Given the description of an element on the screen output the (x, y) to click on. 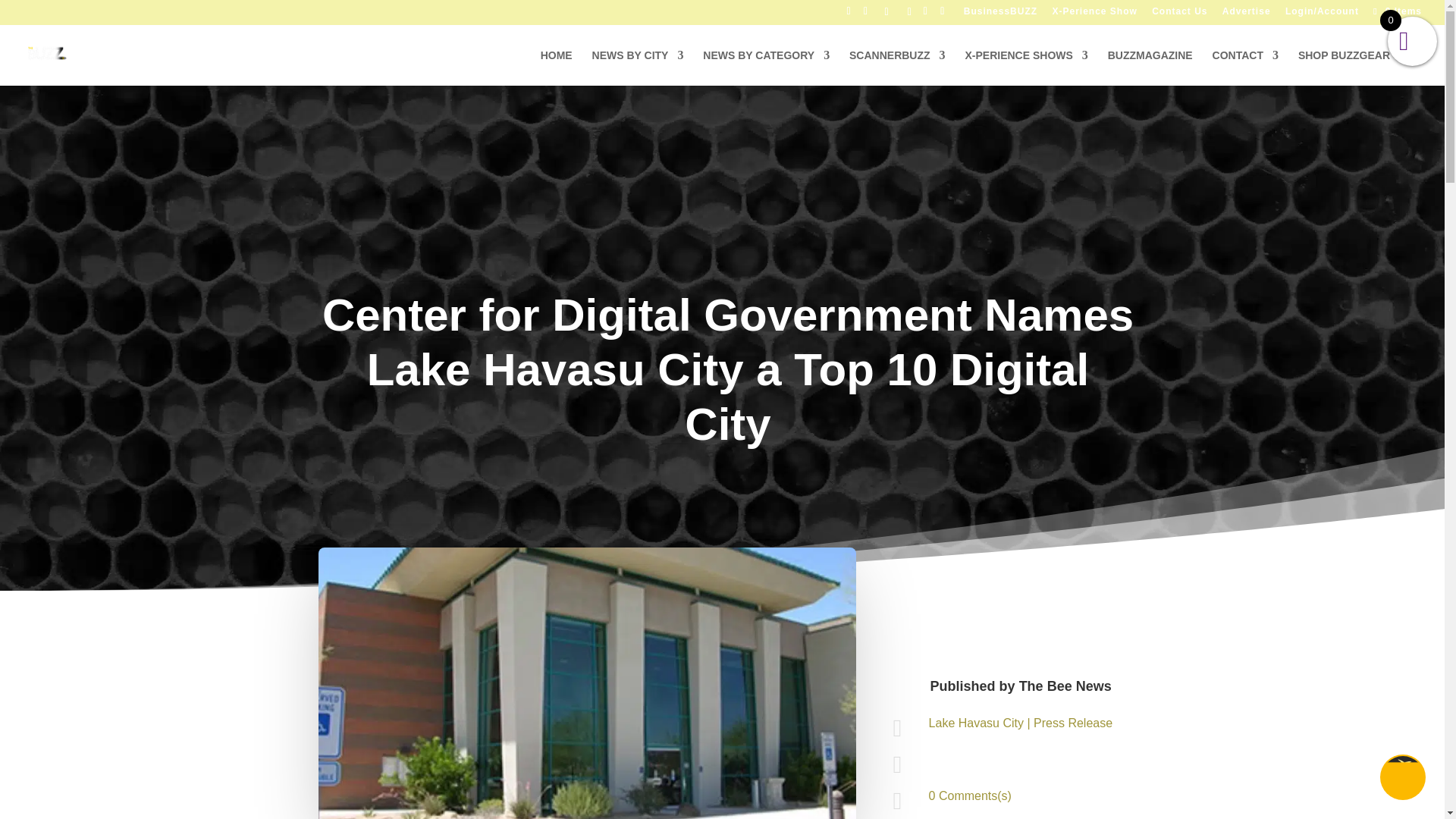
NEWS BY CATEGORY (766, 67)
0 Items (1396, 10)
HOME (556, 67)
Contact Us (1179, 14)
X-Perience Show (1094, 14)
BusinessBUZZ (999, 14)
NEWS BY CITY (638, 67)
SCANNERBUZZ (896, 67)
Advertise (1247, 14)
